Given the description of an element on the screen output the (x, y) to click on. 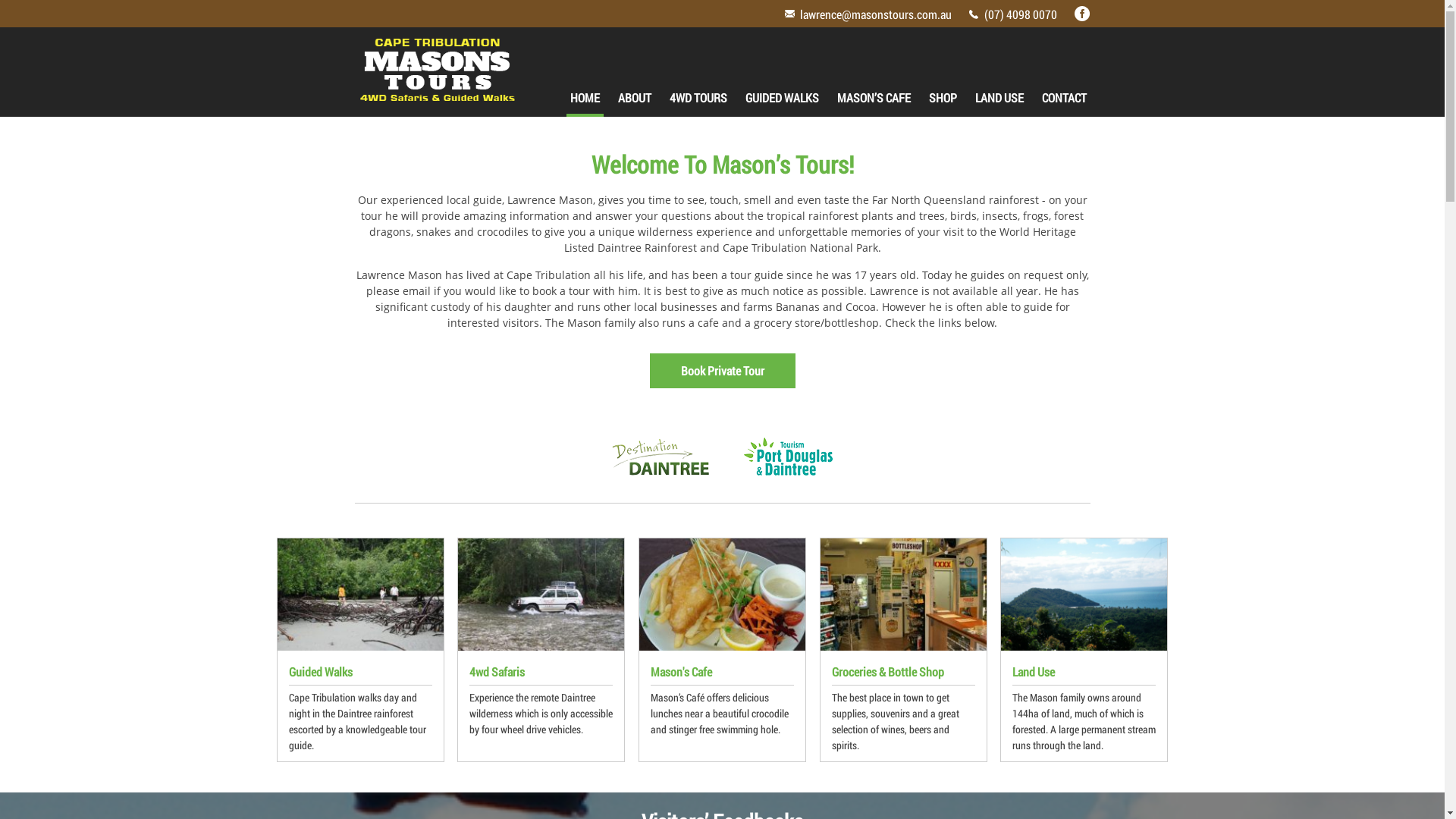
Book Private Tour Element type: text (721, 370)
Mason's Cafe Element type: hover (722, 594)
Land Use Element type: hover (1084, 594)
Mason's Tours Element type: hover (437, 69)
HOME Element type: text (583, 97)
4WD TOURS Element type: text (698, 97)
Groceries & Bottle Shop Element type: hover (903, 594)
4wd Safaris Element type: hover (541, 594)
LAND USE Element type: text (998, 97)
CONTACT Element type: text (1063, 97)
Tourism Port Douglas & Daintree Element type: hover (787, 456)
GUIDED WALKS Element type: text (781, 97)
Guided Walks Element type: hover (360, 594)
Facebook Element type: hover (1081, 13)
SHOP Element type: text (942, 97)
Destination Daintree Element type: hover (660, 456)
ABOUT Element type: text (634, 97)
